Given the description of an element on the screen output the (x, y) to click on. 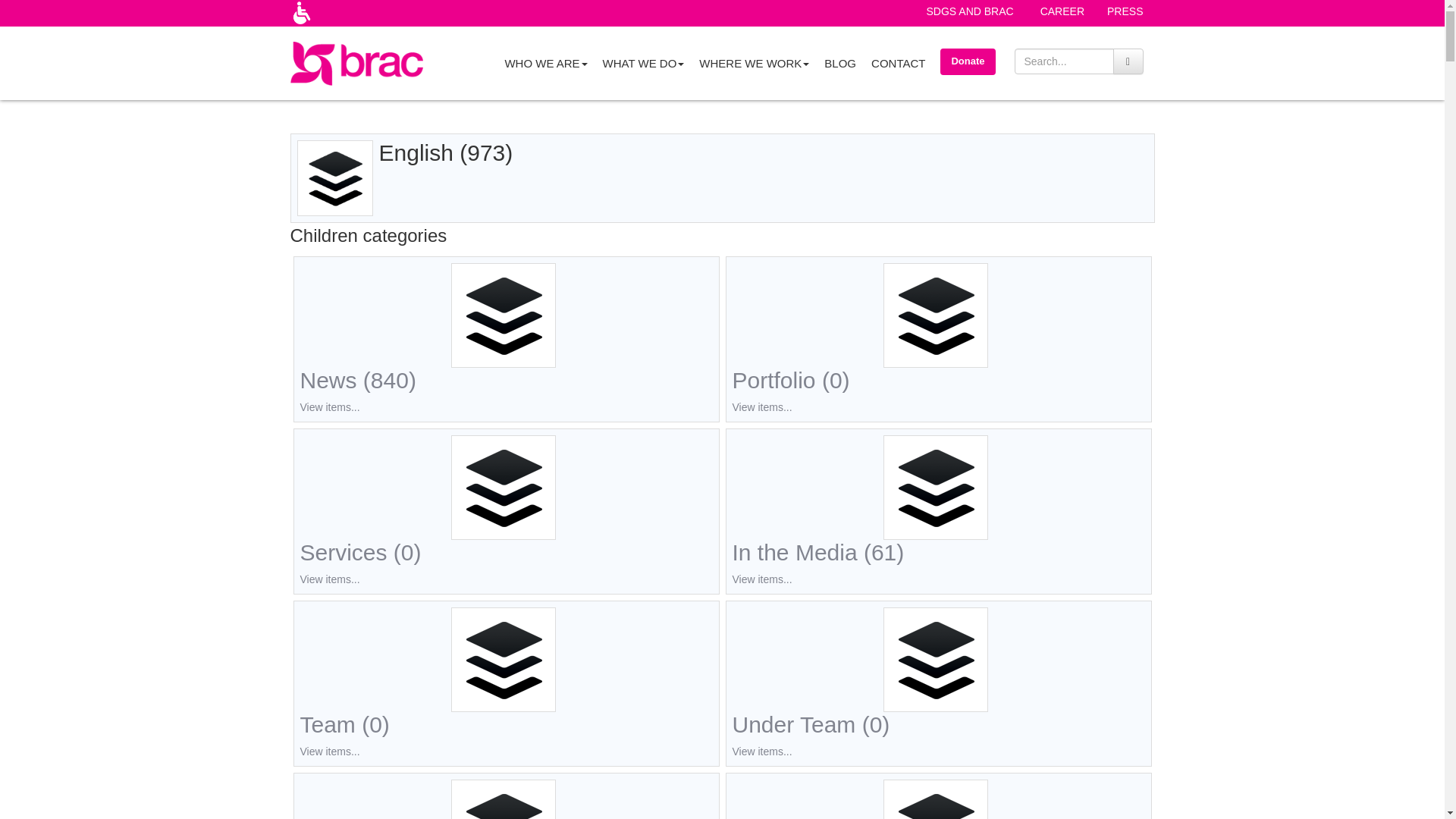
WHERE WE WORK (753, 63)
WHO WE ARE (545, 63)
SDGS AND BRAC (970, 11)
Donate (967, 61)
PRESS (1125, 11)
CAREER (1062, 11)
WHAT WE DO (644, 63)
